Given the description of an element on the screen output the (x, y) to click on. 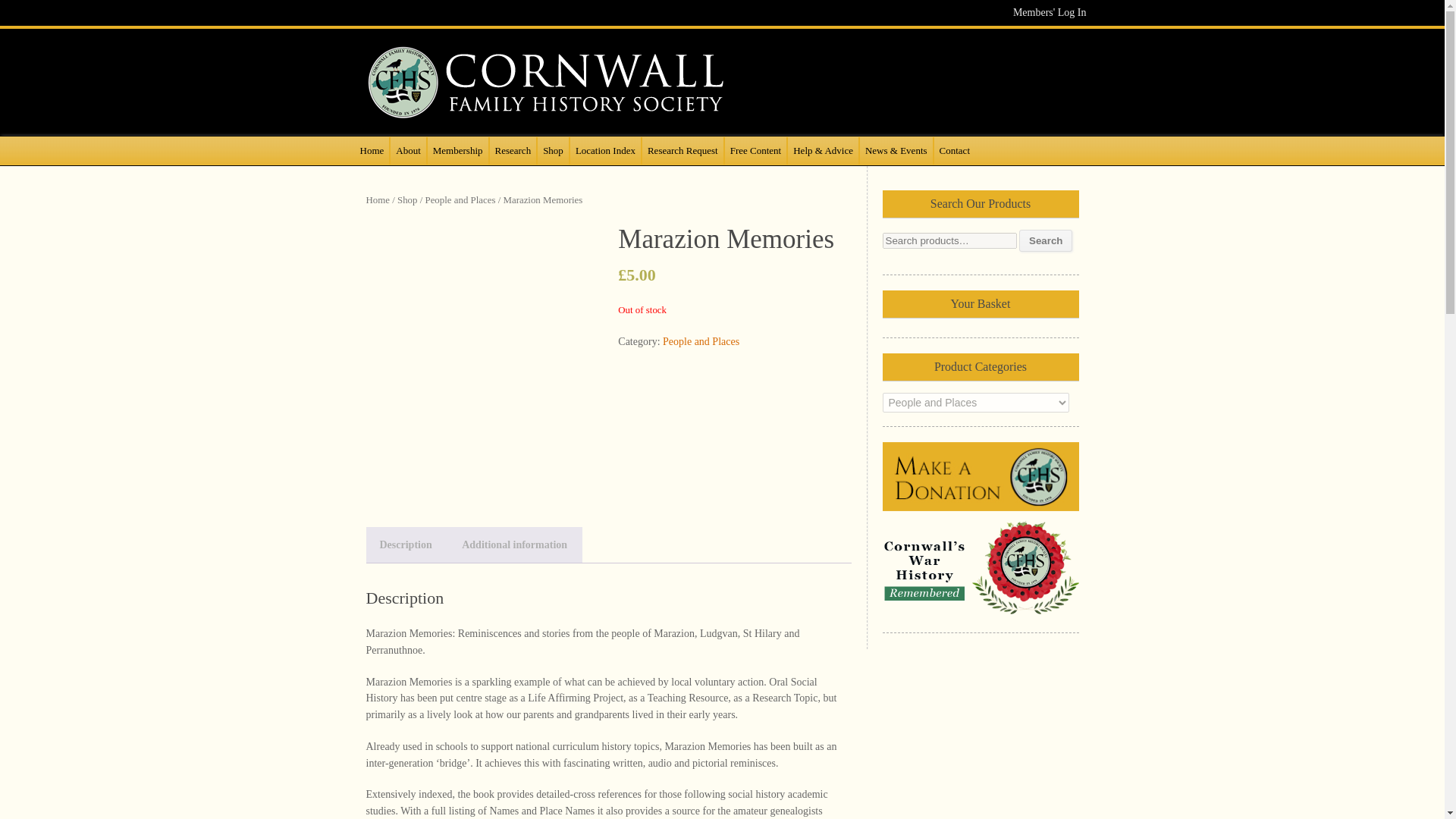
Members' Log In (1049, 12)
Research (512, 150)
Membership (457, 150)
Home (372, 150)
About (408, 150)
